Given the description of an element on the screen output the (x, y) to click on. 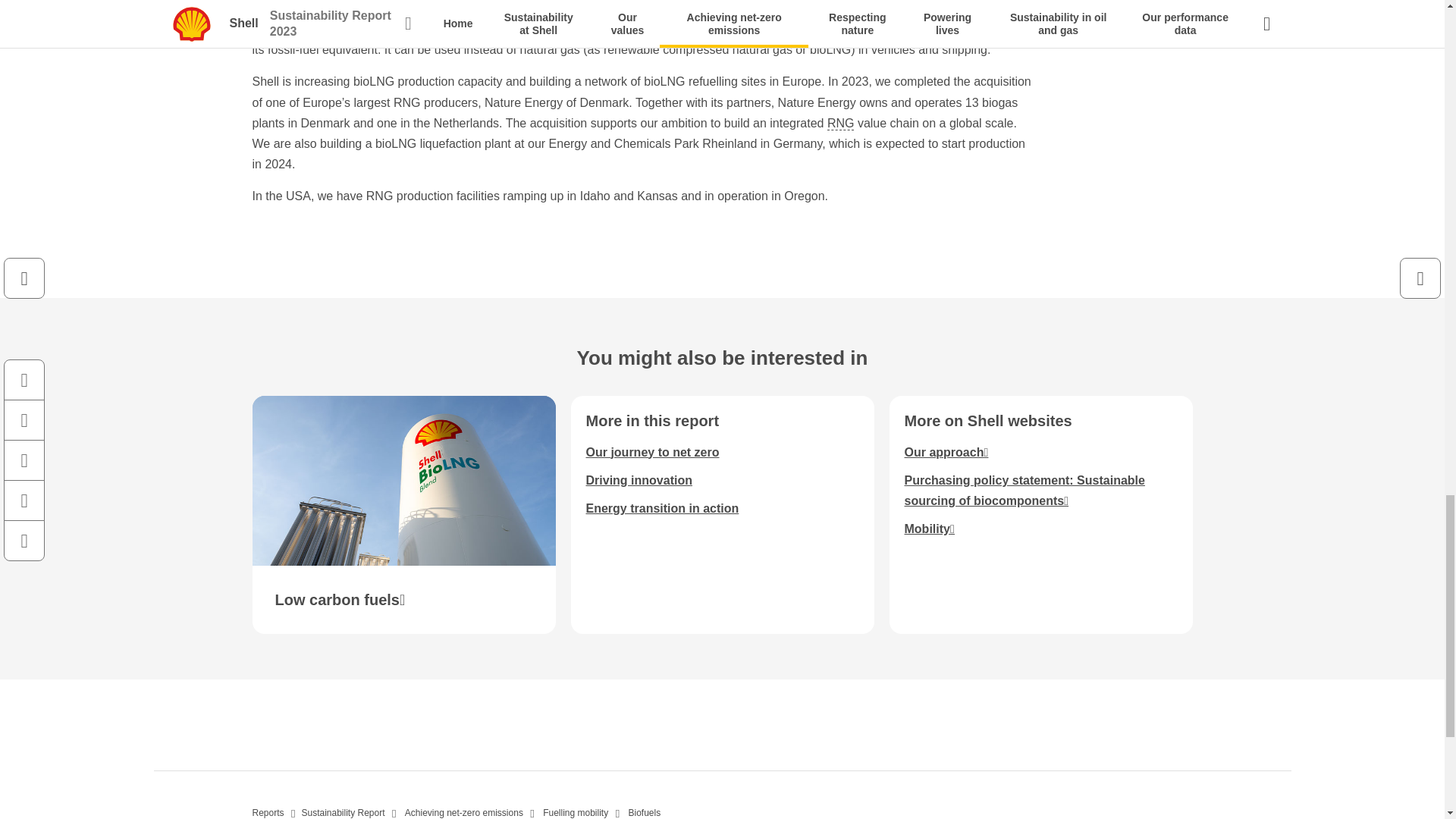
Opens in new window (402, 514)
Opens in new window (928, 528)
Opens in new window (946, 451)
Opens in new window (1024, 490)
